Given the description of an element on the screen output the (x, y) to click on. 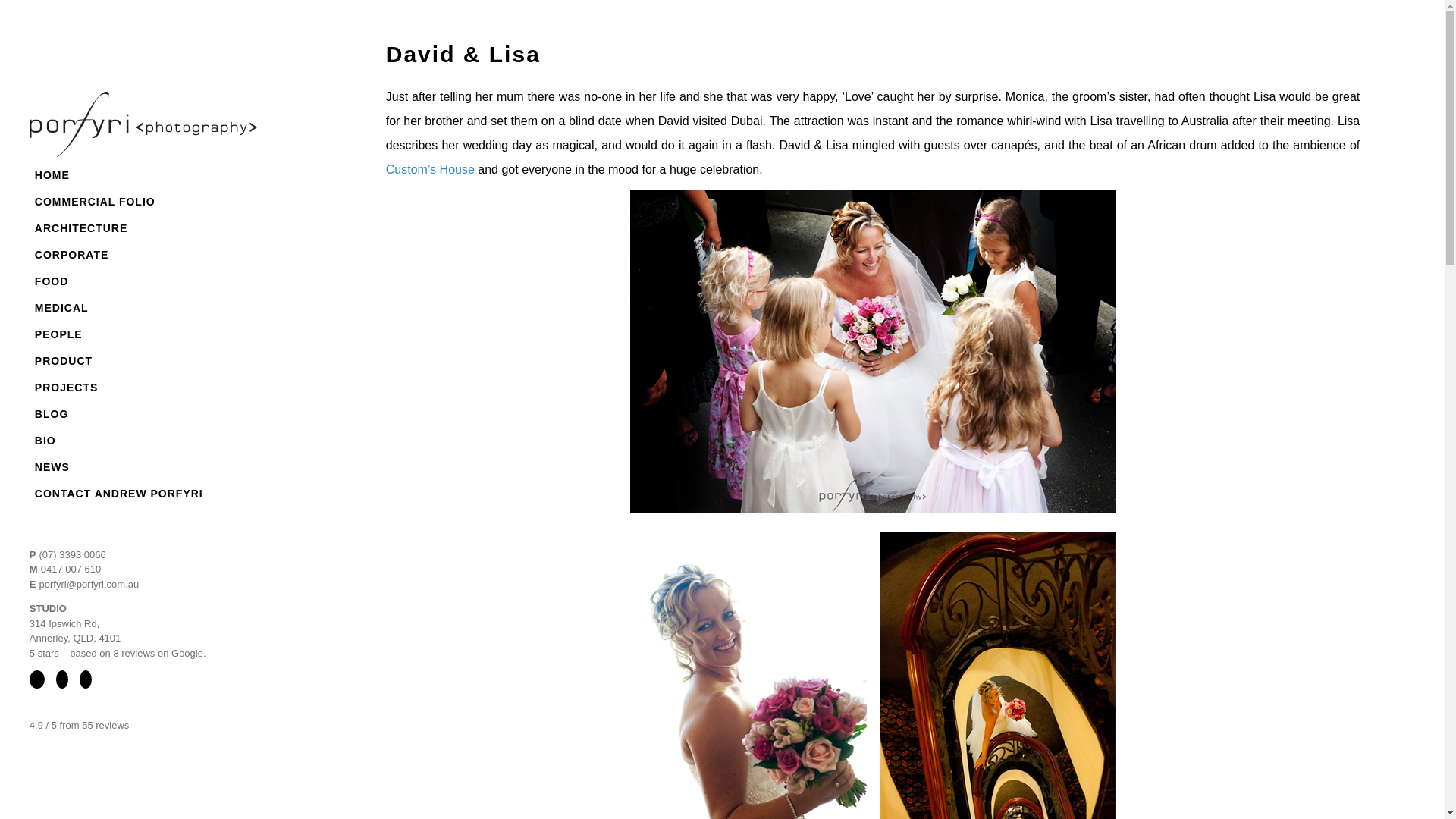
0417 007 610 (70, 568)
PROJECTS (66, 387)
HOME (52, 175)
BLOG (51, 414)
CORPORATE (71, 254)
PRODUCT (63, 361)
PEOPLE (58, 334)
BIO (45, 440)
Customs House Wedding Venue (429, 169)
NEWS (52, 467)
ARCHITECTURE (80, 228)
MEDICAL (61, 307)
FOOD (51, 281)
CONTACT ANDREW PORFYRI (118, 493)
